Given the description of an element on the screen output the (x, y) to click on. 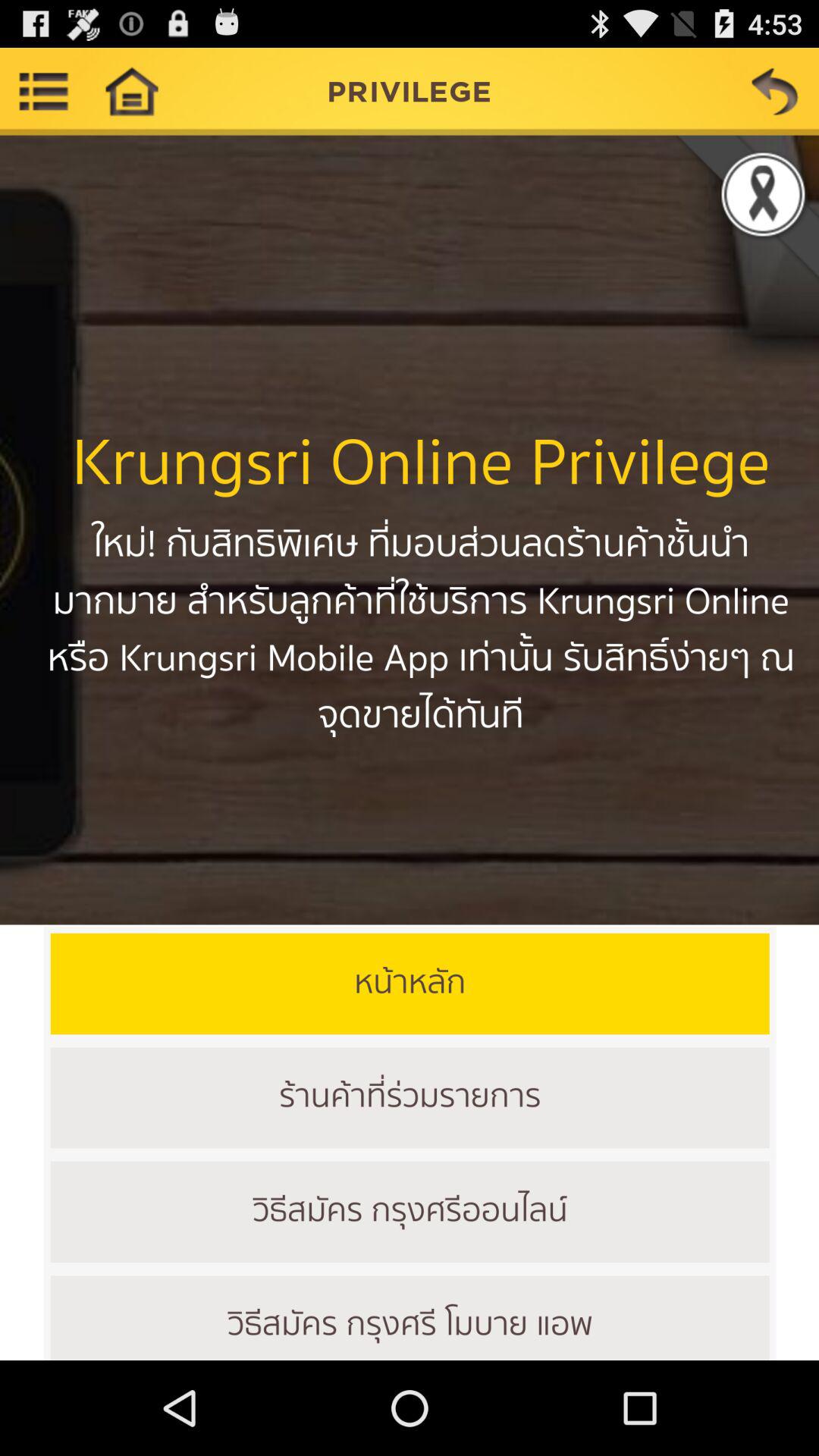
more options (43, 91)
